Given the description of an element on the screen output the (x, y) to click on. 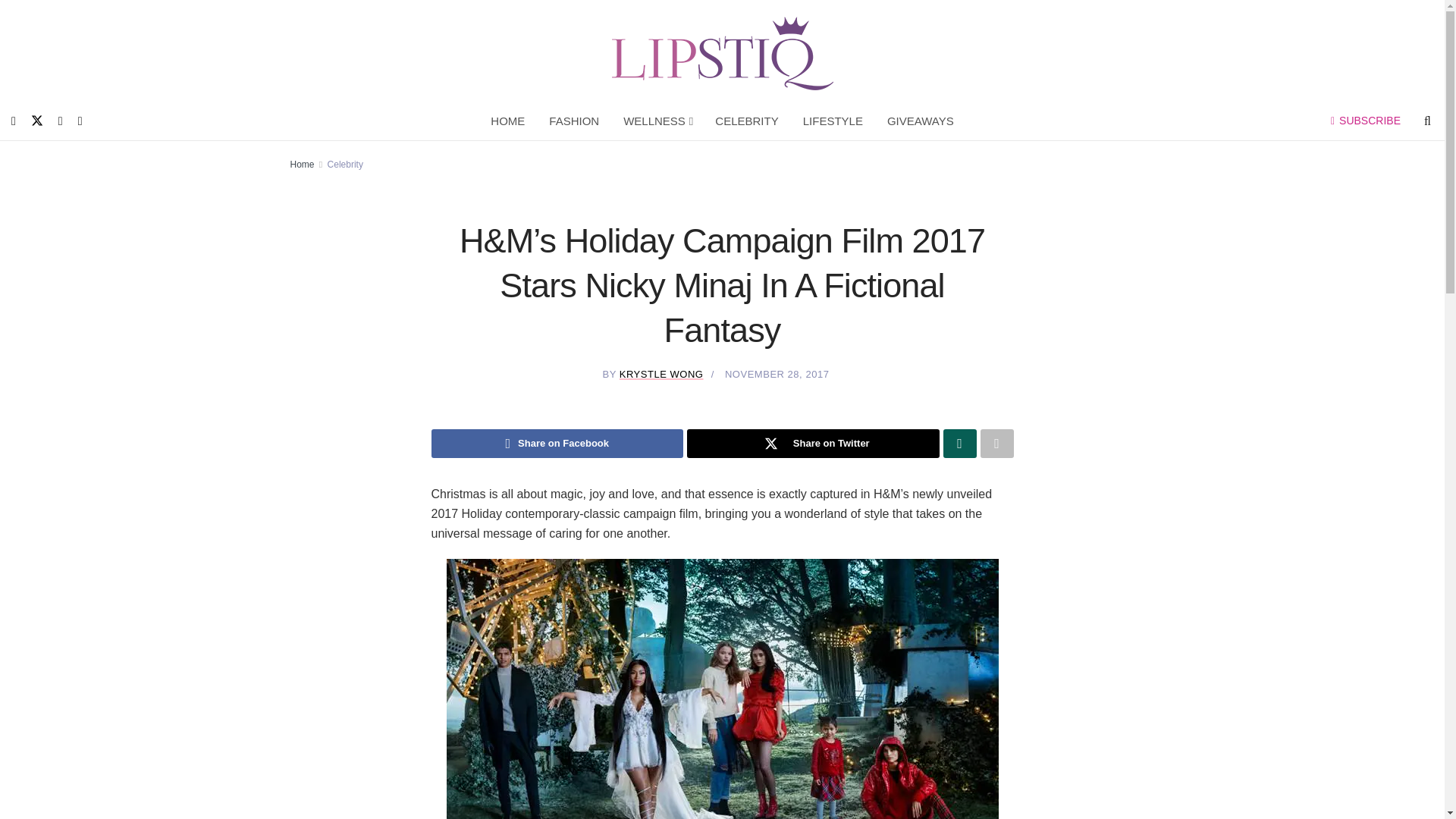
Share on Twitter (813, 443)
KRYSTLE WONG (661, 374)
NOVEMBER 28, 2017 (776, 374)
LIFESTYLE (832, 121)
HOME (508, 121)
WELLNESS (657, 121)
SUBSCRIBE (1365, 120)
GIVEAWAYS (920, 121)
Celebrity (344, 163)
Share on Facebook (556, 443)
FASHION (574, 121)
Home (301, 163)
CELEBRITY (746, 121)
